Given the description of an element on the screen output the (x, y) to click on. 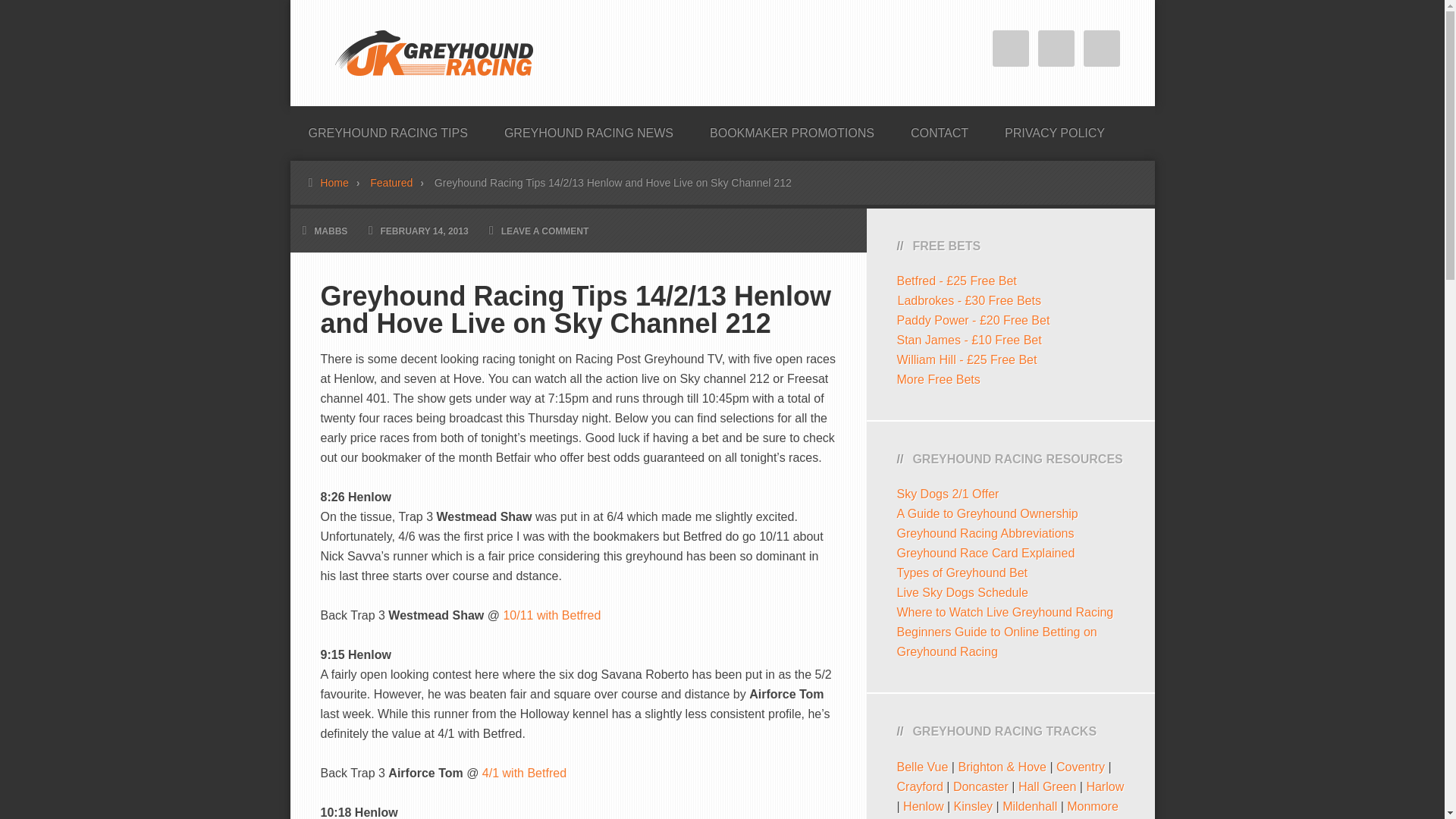
CONTACT (939, 128)
Greyhound Race Card Explained (985, 553)
UK GREYHOUND RACING (433, 53)
Greyhound Racing Abbreviations (985, 533)
Featured (399, 182)
Home (343, 182)
BOOKMAKER PROMOTIONS (791, 128)
LEAVE A COMMENT (544, 231)
More Free Bets (937, 379)
A Guide to Greyhound Ownership (986, 513)
Live Sky Dogs Schedule (961, 592)
GREYHOUND RACING NEWS (588, 128)
MABBS (330, 231)
Types of Greyhound Bet (961, 572)
Where to Watch Live Greyhound Racing (1004, 612)
